Given the description of an element on the screen output the (x, y) to click on. 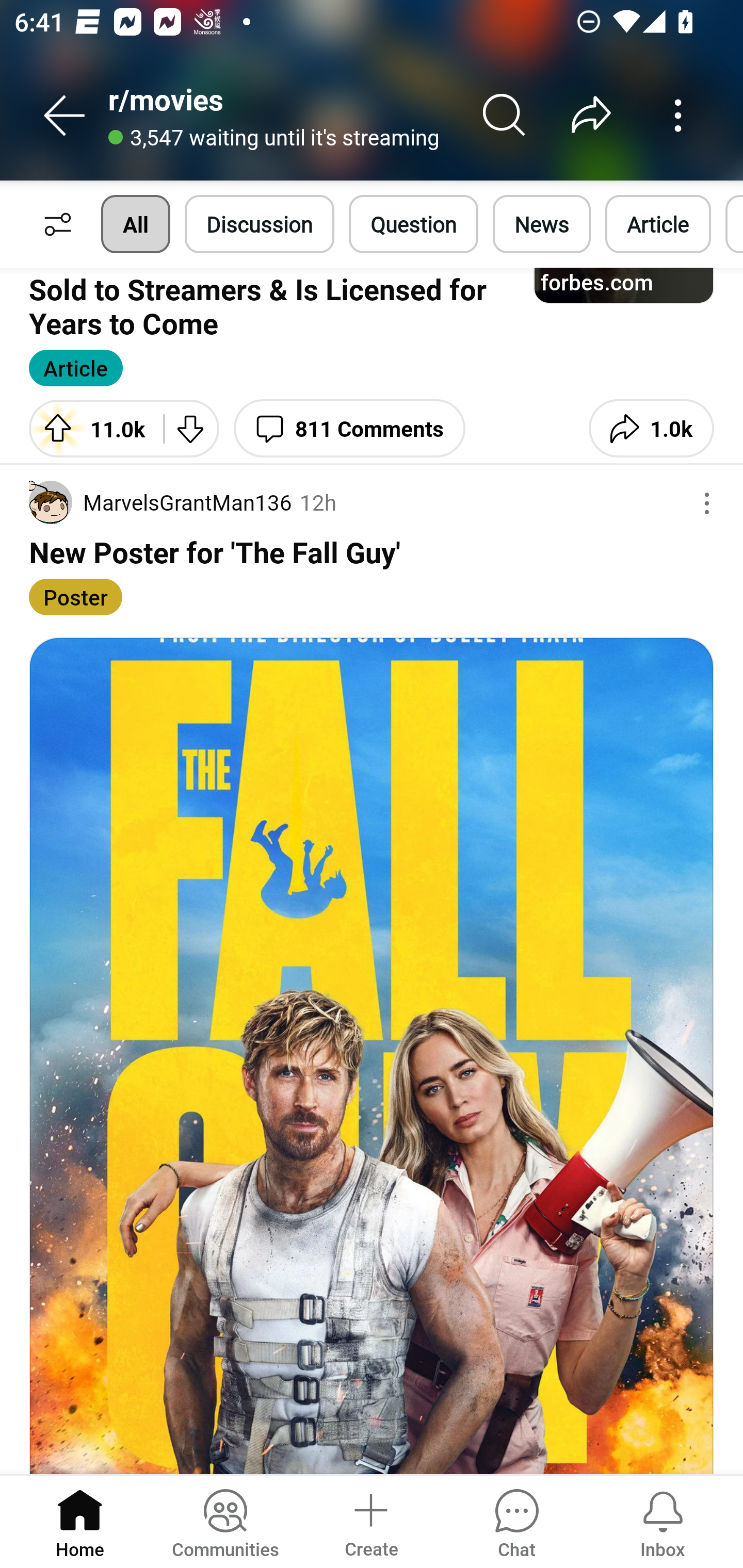
Back (64, 115)
Search r/﻿movies (504, 115)
Share r/﻿movies (591, 115)
More community actions (677, 115)
Feed Options (53, 224)
All (135, 224)
Discussion (259, 224)
Question (413, 224)
News (541, 224)
Article (658, 224)
Article (75, 367)
Upvote 11.0k (88, 427)
Downvote (191, 427)
811 Comments (349, 427)
Share 1.0k (651, 427)
Author MarvelsGrantMan136 (160, 502)
Poster (75, 596)
Image (371, 1054)
Home (80, 1520)
Communities (225, 1520)
Create a post Create (370, 1520)
Chat (516, 1520)
Inbox (662, 1520)
